Given the description of an element on the screen output the (x, y) to click on. 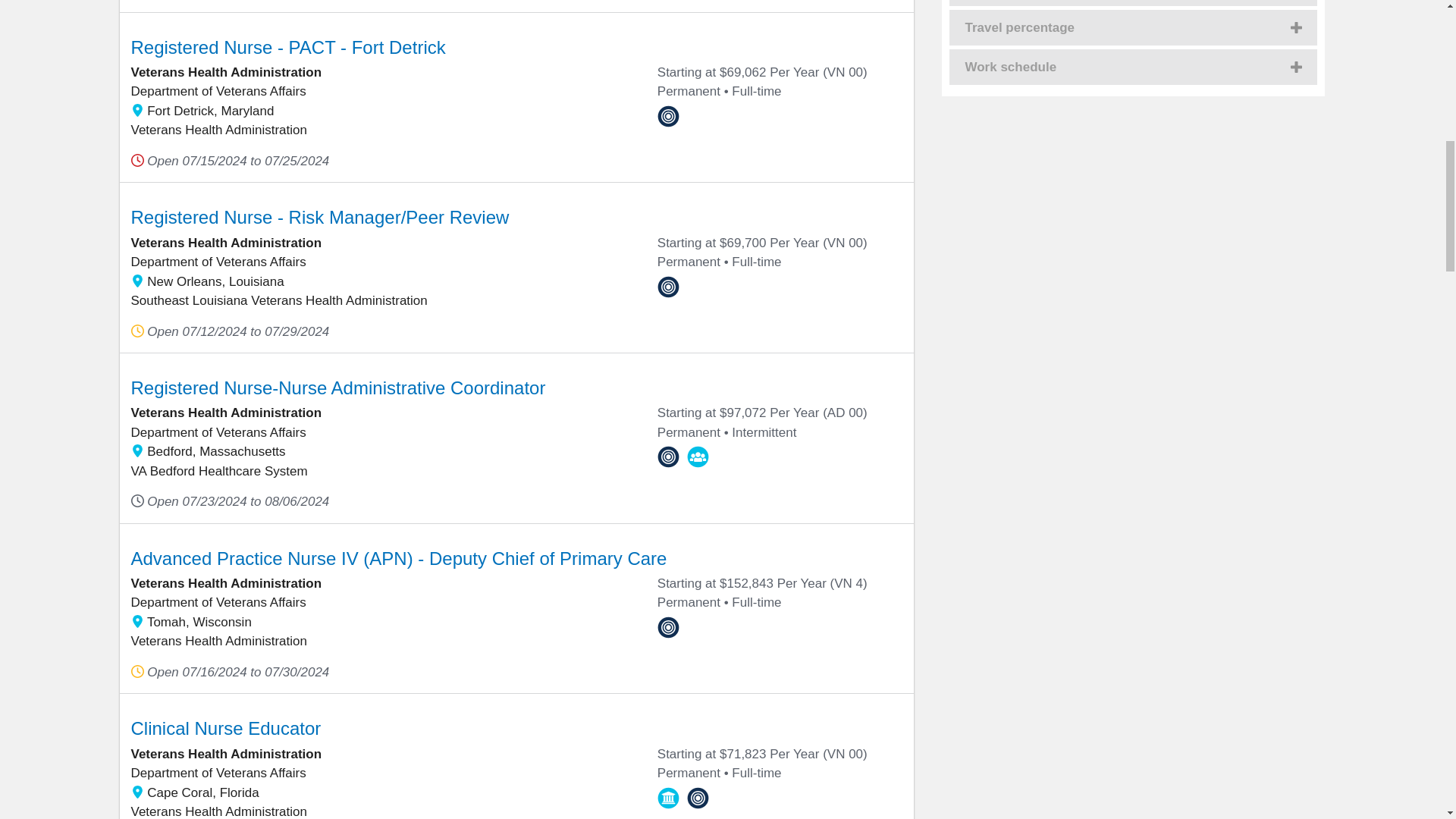
Jobs only open to current federal employees of the agency. (668, 116)
Jobs only open to current federal employees of the agency. (668, 287)
Jobs only open to current federal employees of the agency. (668, 456)
Fort Detrick, Maryland (136, 110)
